Given the description of an element on the screen output the (x, y) to click on. 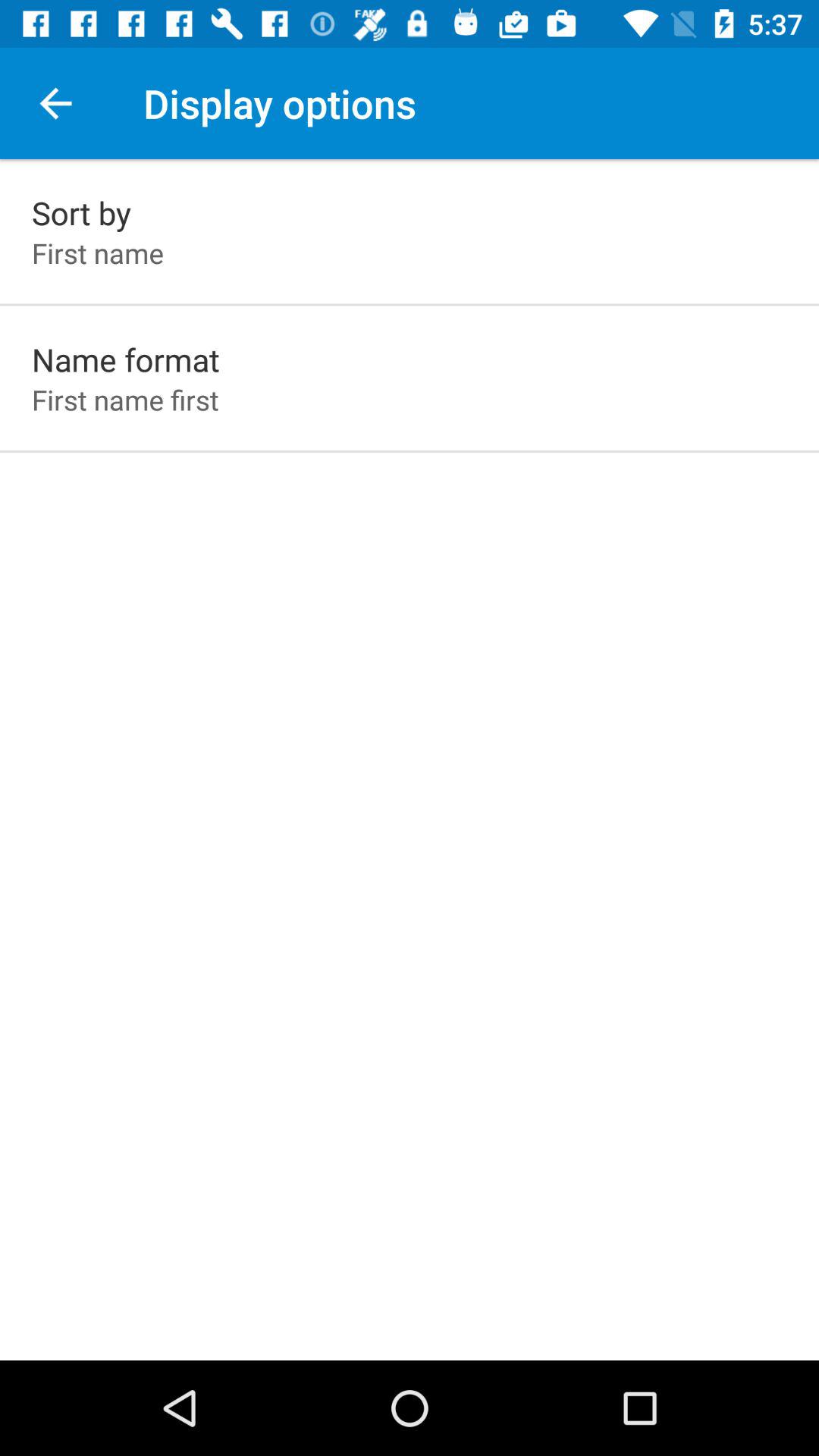
scroll until name format (125, 359)
